Given the description of an element on the screen output the (x, y) to click on. 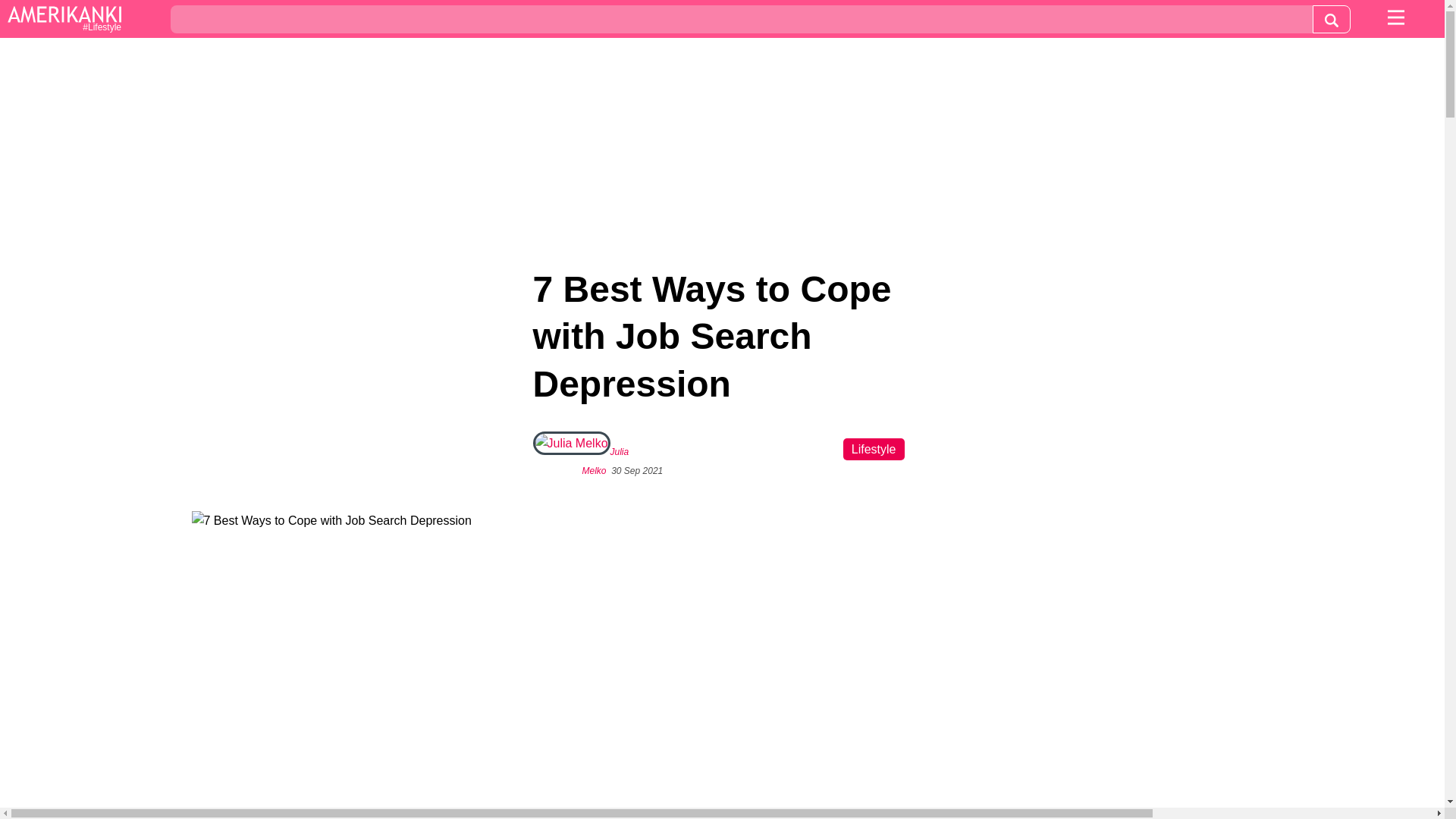
Lifestyle (63, 19)
Julia Melko (605, 460)
Lifestyle (873, 449)
Lifestyle Amerikanki (63, 19)
